Given the description of an element on the screen output the (x, y) to click on. 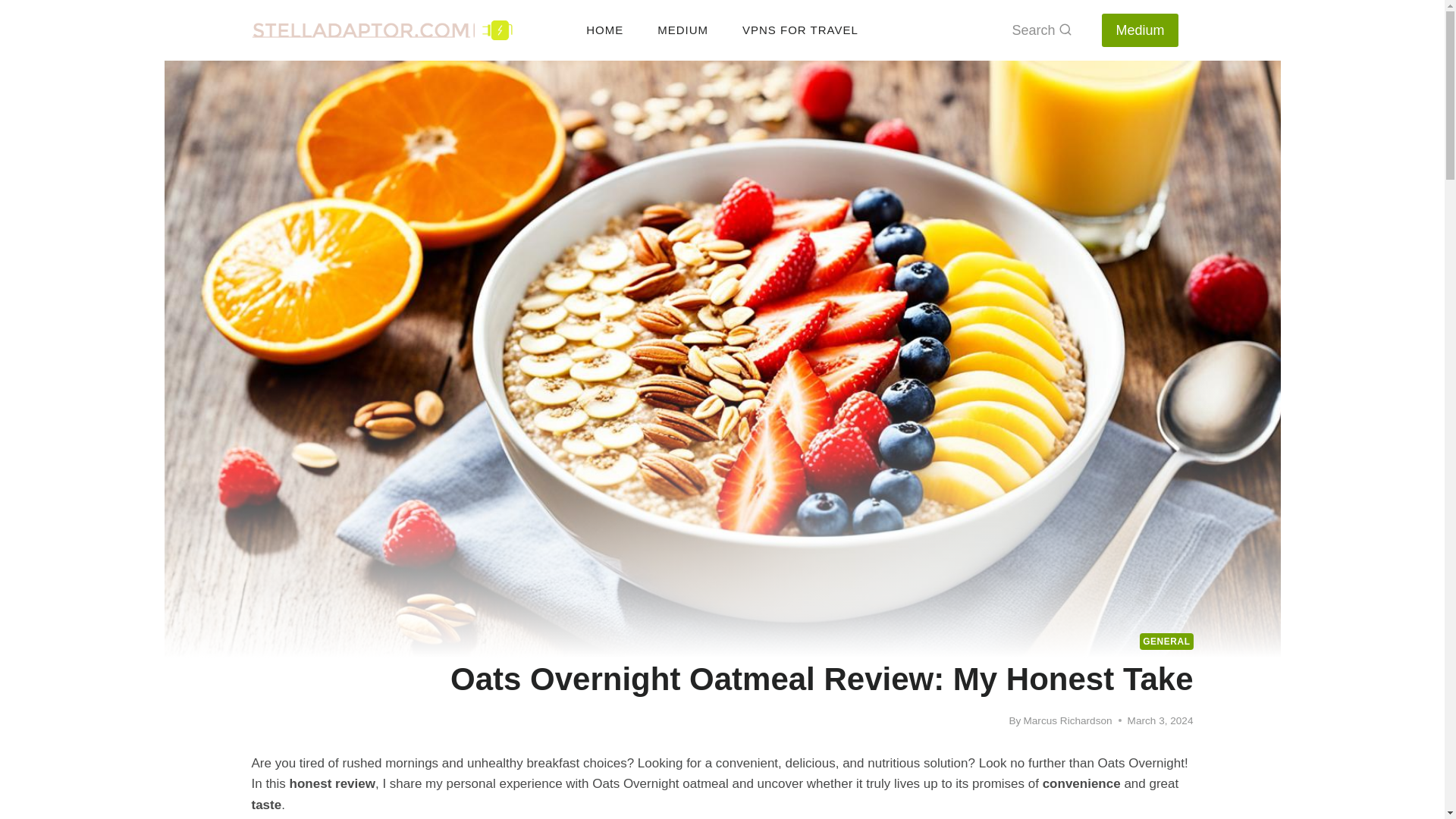
Marcus Richardson (1067, 720)
GENERAL (1166, 641)
VPNS FOR TRAVEL (800, 29)
Search (1041, 30)
Medium (1139, 29)
HOME (604, 29)
MEDIUM (682, 29)
